Given the description of an element on the screen output the (x, y) to click on. 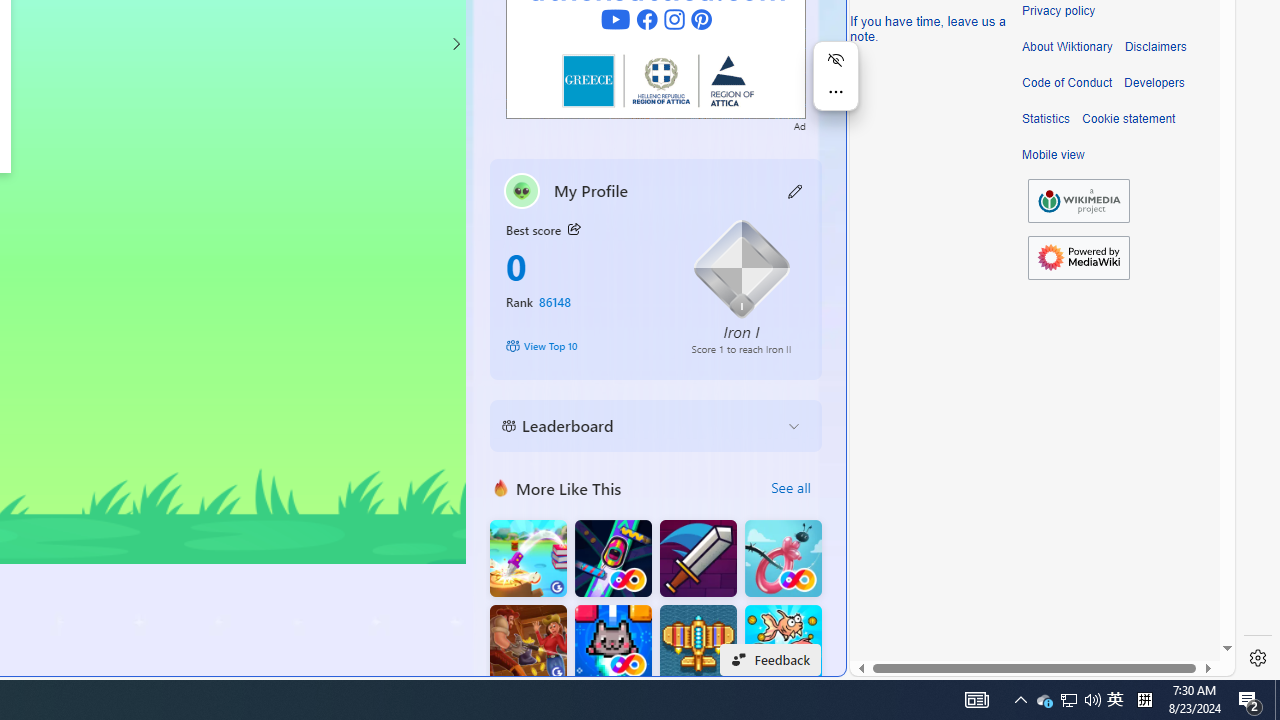
If you have time, leave us a note. (927, 27)
Saloon Robbery (528, 643)
Mini menu on text selection (835, 88)
Atlantic Sky Hunter (698, 643)
Bumper Car FRVR (612, 558)
Cookie statement (1128, 119)
AutomationID: footer-copyrightico (1078, 200)
See all (790, 487)
Wikimedia Foundation (1078, 200)
Global web icon (888, 663)
View Top 10 (584, 345)
Class: control (455, 43)
